Given the description of an element on the screen output the (x, y) to click on. 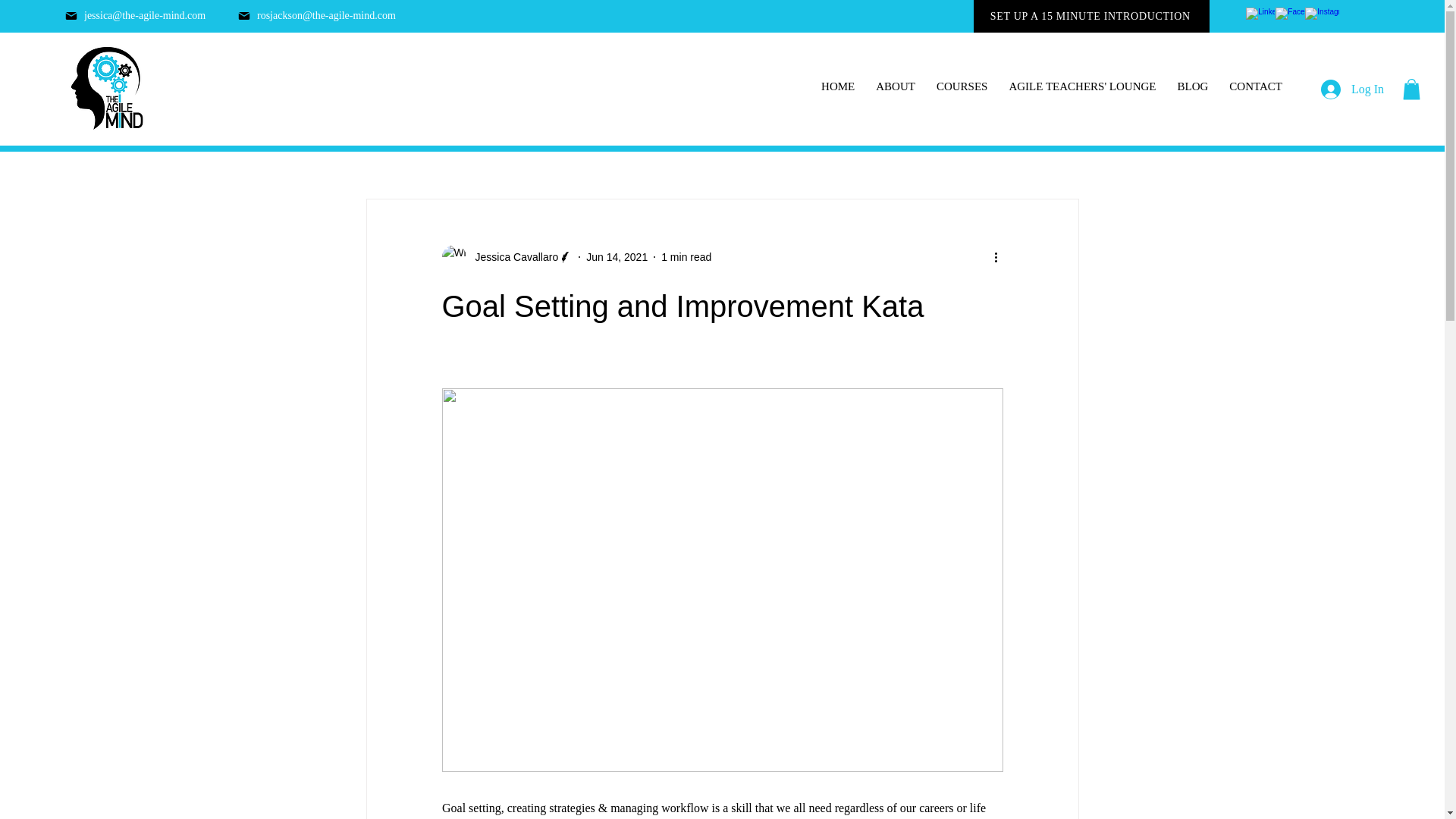
Log In (1352, 89)
COURSES (961, 86)
Jun 14, 2021 (616, 256)
HOME (837, 86)
BLOG (1192, 86)
1 min read (686, 256)
Jessica Cavallaro (511, 257)
CONTACT (1255, 86)
ABOUT (895, 86)
SET UP A 15 MINUTE INTRODUCTION (1091, 16)
